Given the description of an element on the screen output the (x, y) to click on. 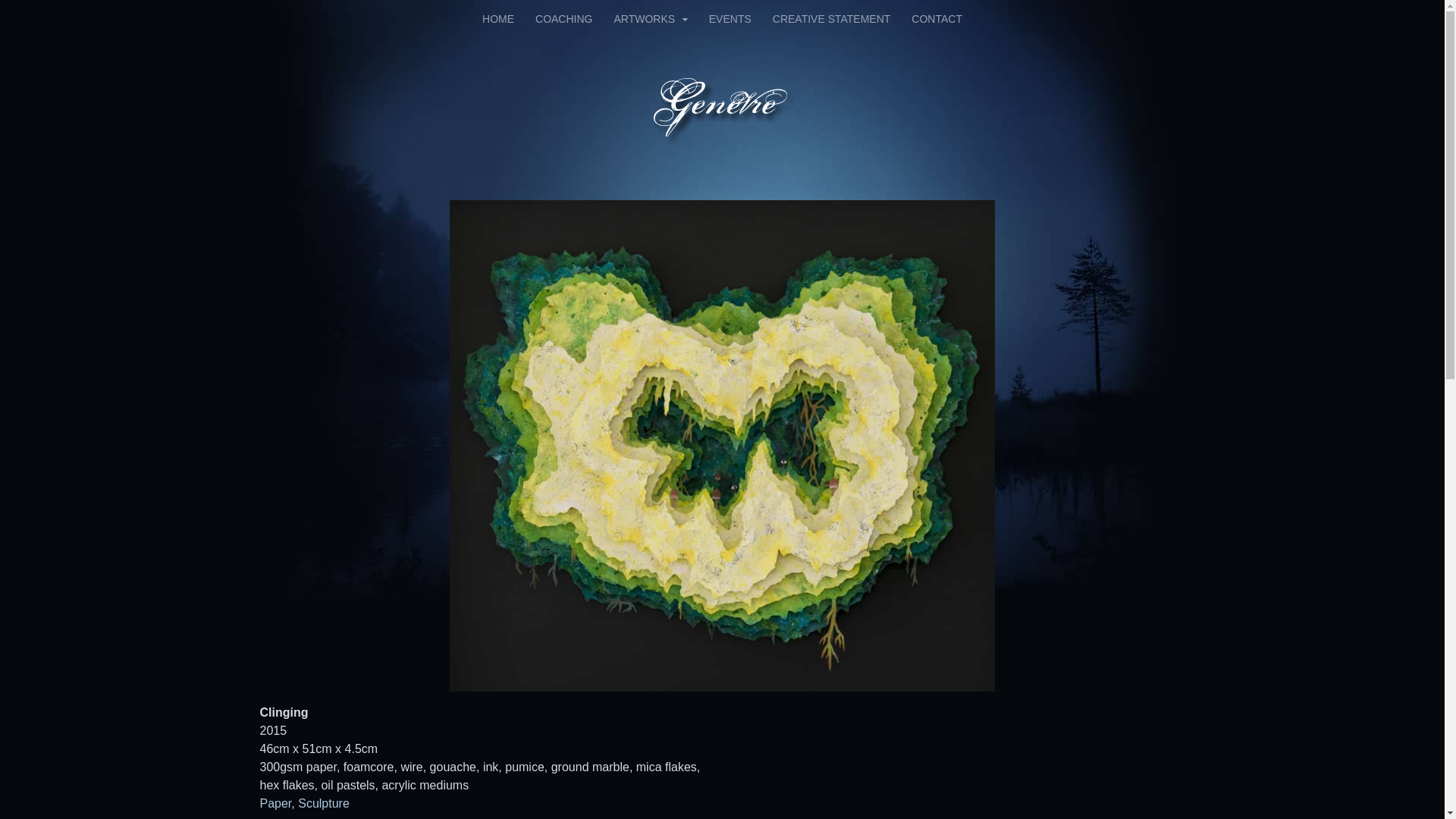
Sculpture Element type: text (323, 803)
COACHING Element type: text (563, 18)
CONTACT Element type: text (936, 18)
ARTWORKS Element type: text (649, 18)
The Search for Wonderment in a Dark World Element type: hover (721, 136)
Paper Element type: text (275, 803)
CREATIVE STATEMENT Element type: text (831, 18)
HOME Element type: text (497, 18)
EVENTS Element type: text (730, 18)
